Given the description of an element on the screen output the (x, y) to click on. 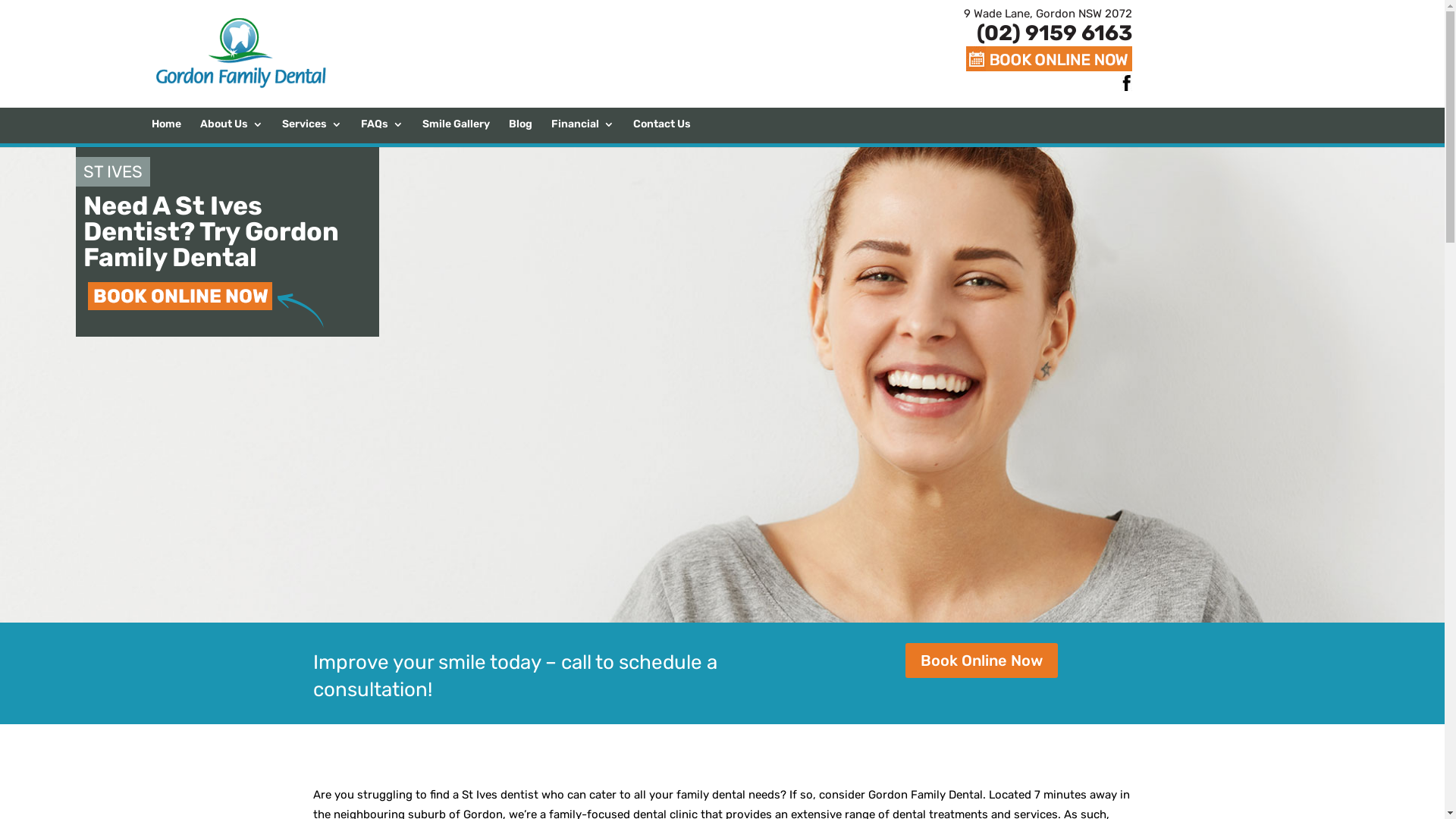
Blog Element type: text (520, 131)
Book Online Now Element type: text (981, 660)
Smile Gallery Element type: text (455, 131)
Financial Element type: text (582, 131)
(02) 9159 6163 Element type: text (1047, 33)
Home Element type: text (166, 131)
Contact Us Element type: text (661, 131)
FAQs Element type: text (381, 131)
Book-Online-Now-1 Element type: hover (206, 302)
About Us Element type: text (231, 131)
9 Wade Lane, Gordon NSW 2072 Element type: text (1047, 13)
Services Element type: text (312, 131)
